Given the description of an element on the screen output the (x, y) to click on. 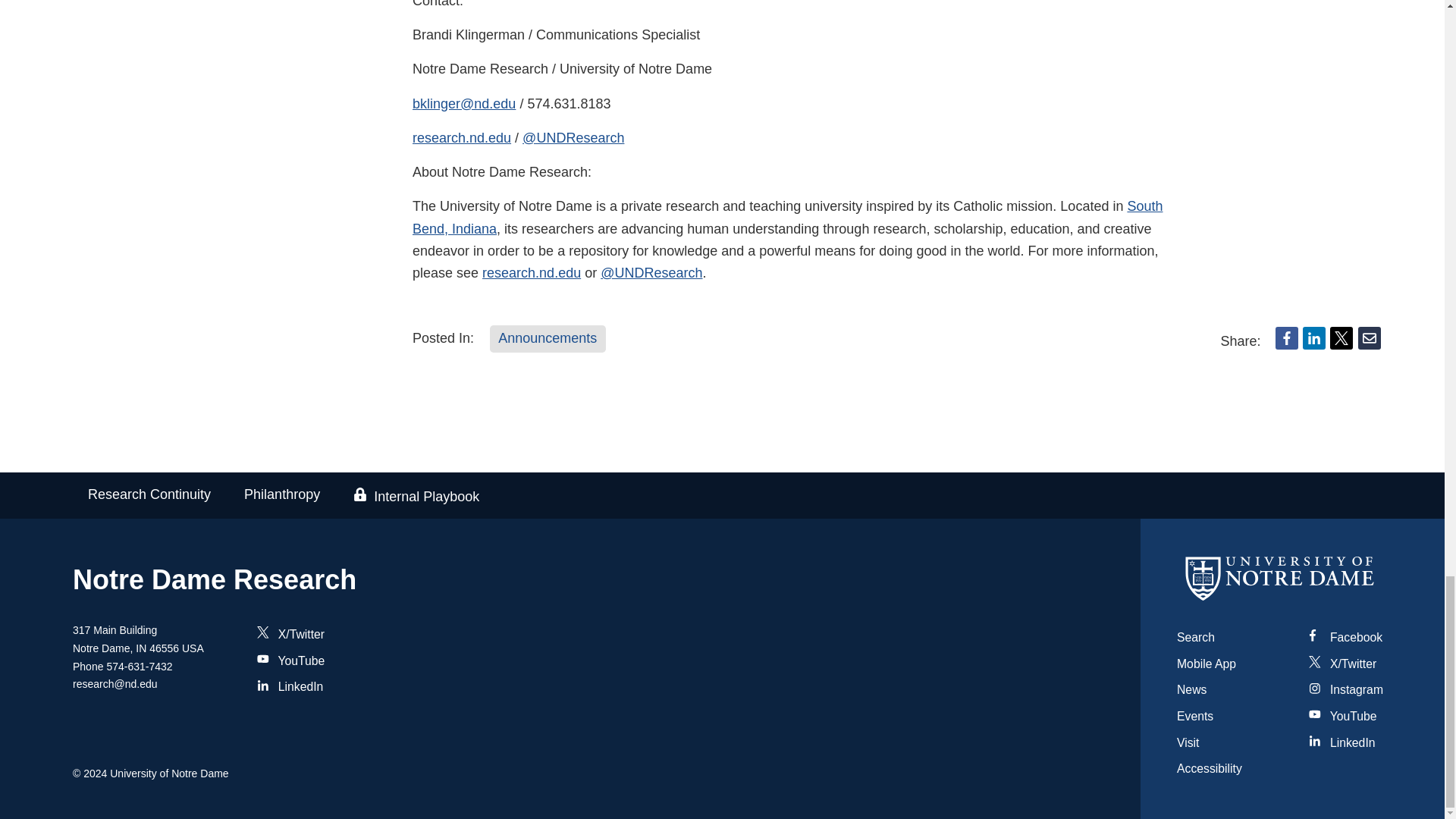
Facebook (1286, 337)
LinkedIn (1313, 337)
Email (1369, 337)
